Given the description of an element on the screen output the (x, y) to click on. 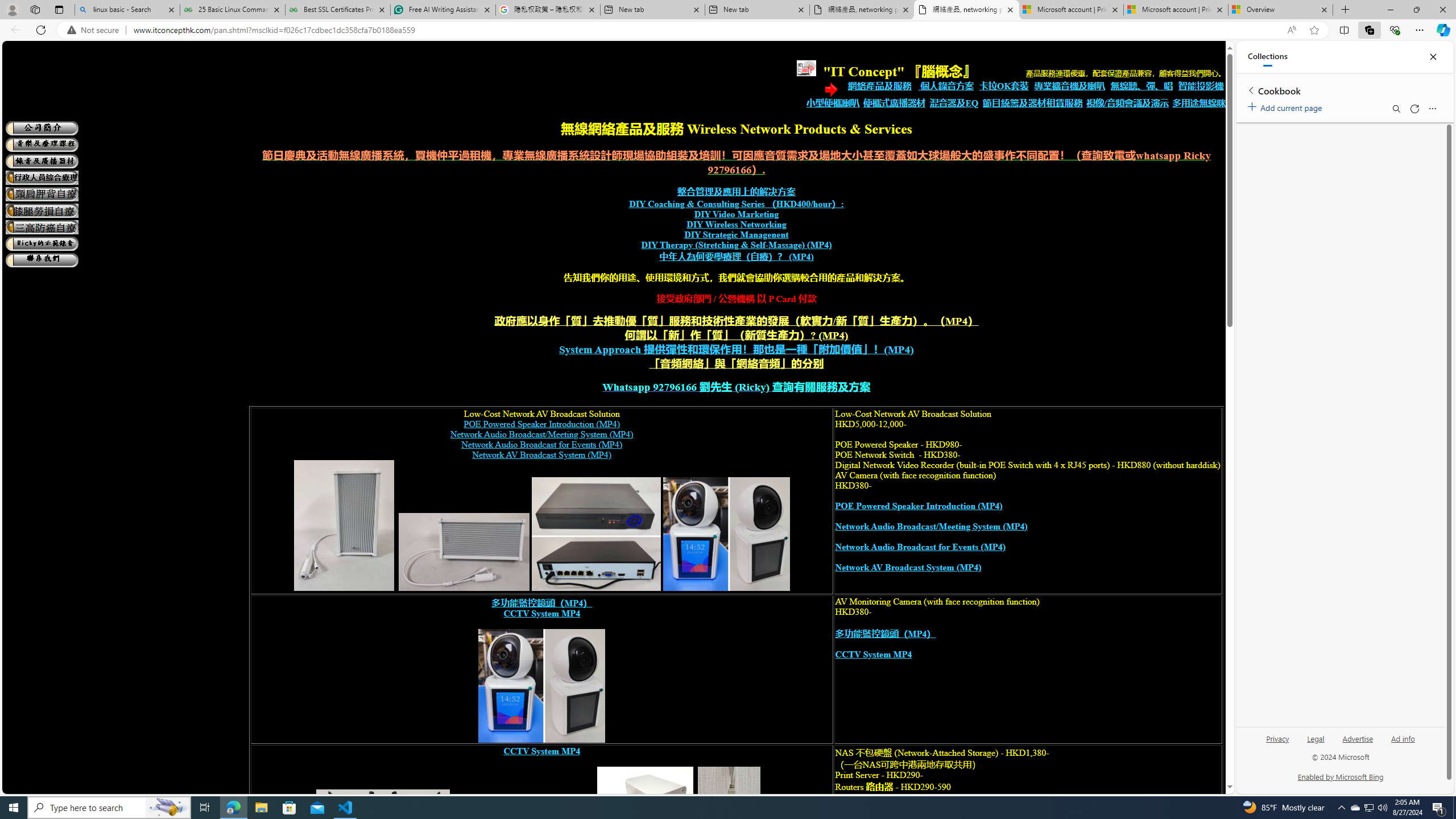
POE Powered Speaker Introduction (MP4) (918, 506)
Network AV Broadcast System (MP4) (907, 567)
POE switch, digital network video recorder, (596, 534)
Network Audio Broadcast/Meeting System (MP4) (930, 526)
